Given the description of an element on the screen output the (x, y) to click on. 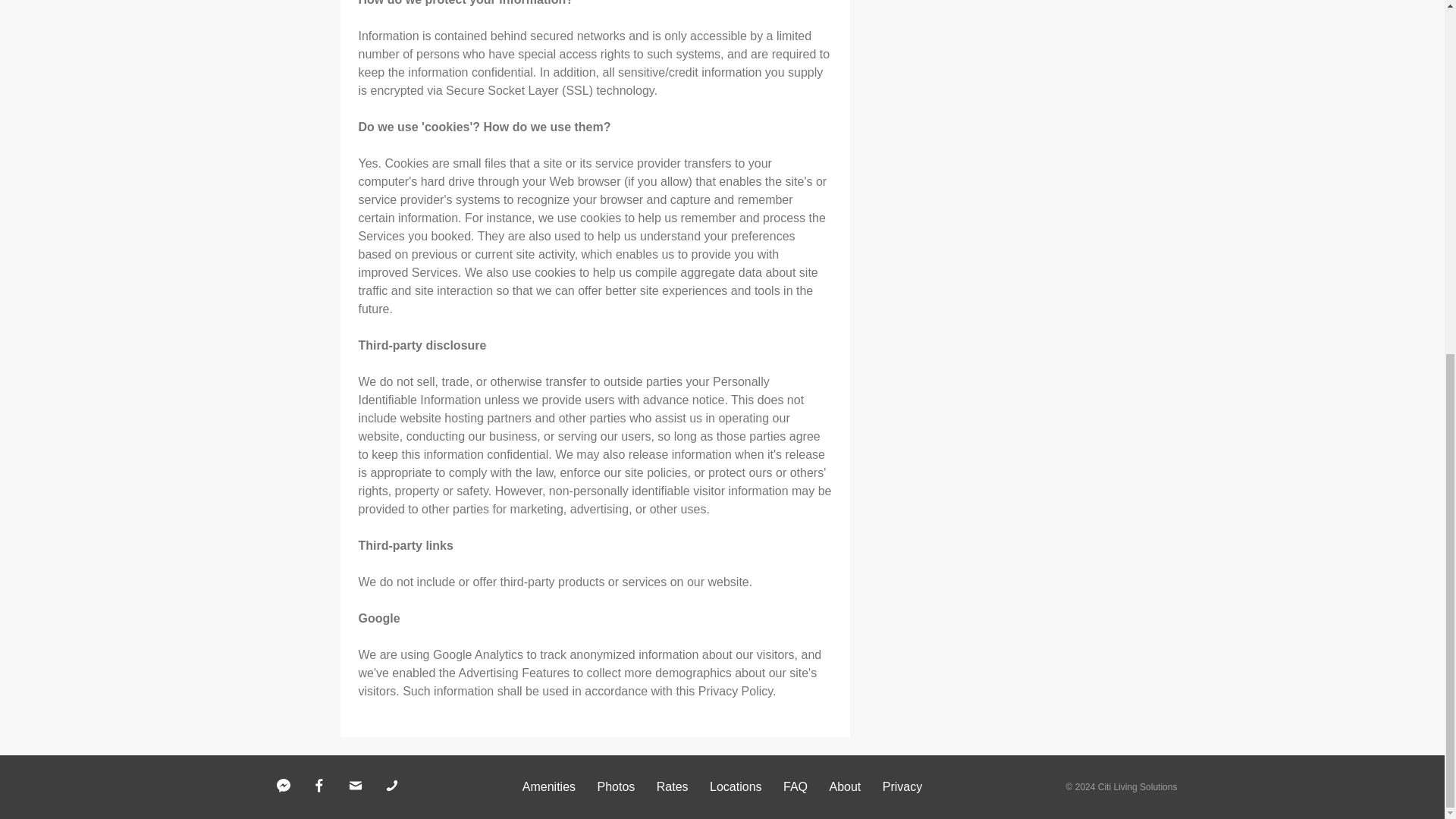
Privacy (901, 786)
Rates (672, 786)
Locations (735, 786)
Photos (615, 786)
FAQ (795, 786)
About (844, 786)
Amenities (548, 786)
